Given the description of an element on the screen output the (x, y) to click on. 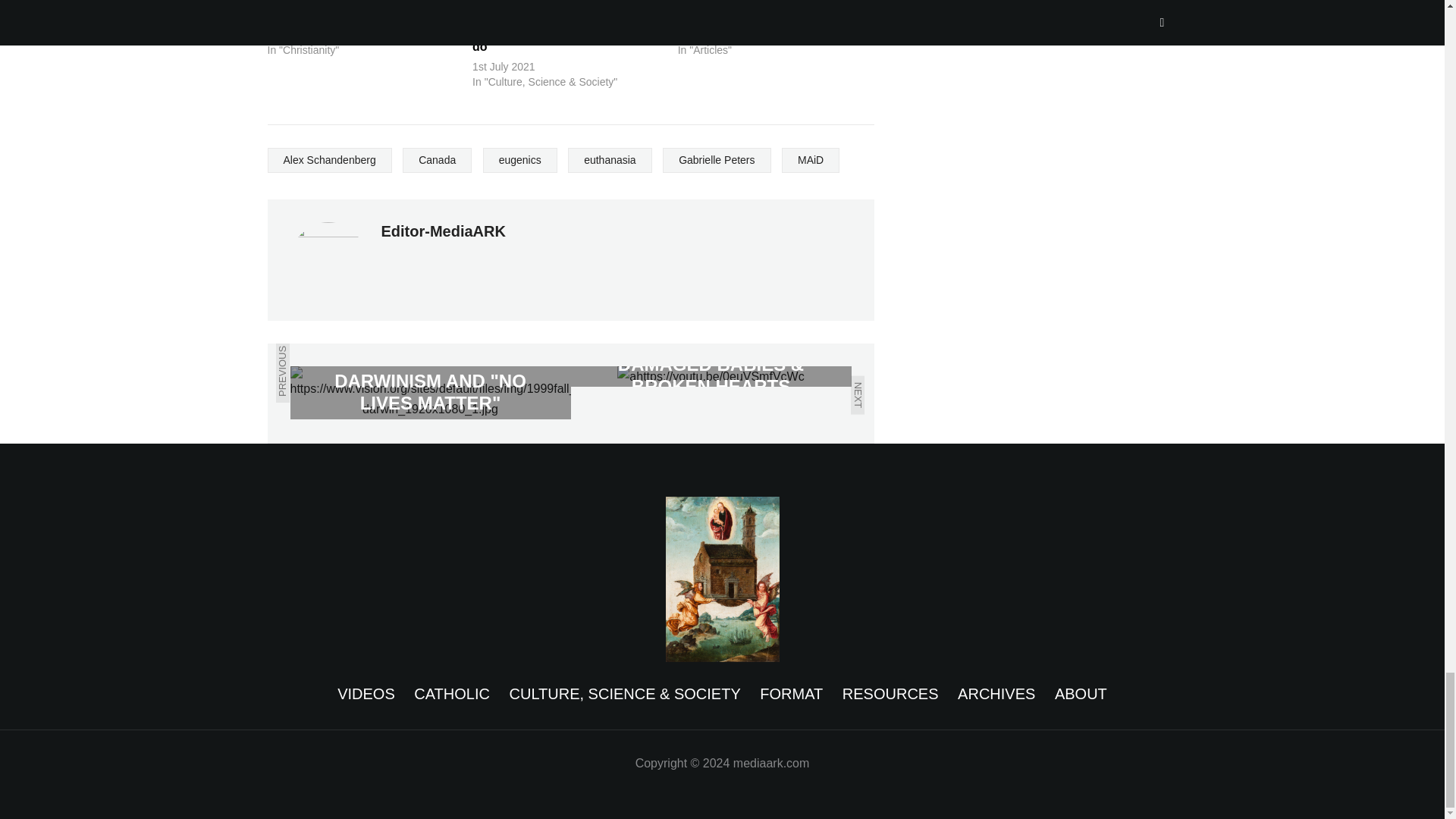
Posts by Editor-MediaARK (442, 230)
Climate Change, Abortion and the Sexual Revolution (764, 10)
Darwinism and  (429, 392)
